Given the description of an element on the screen output the (x, y) to click on. 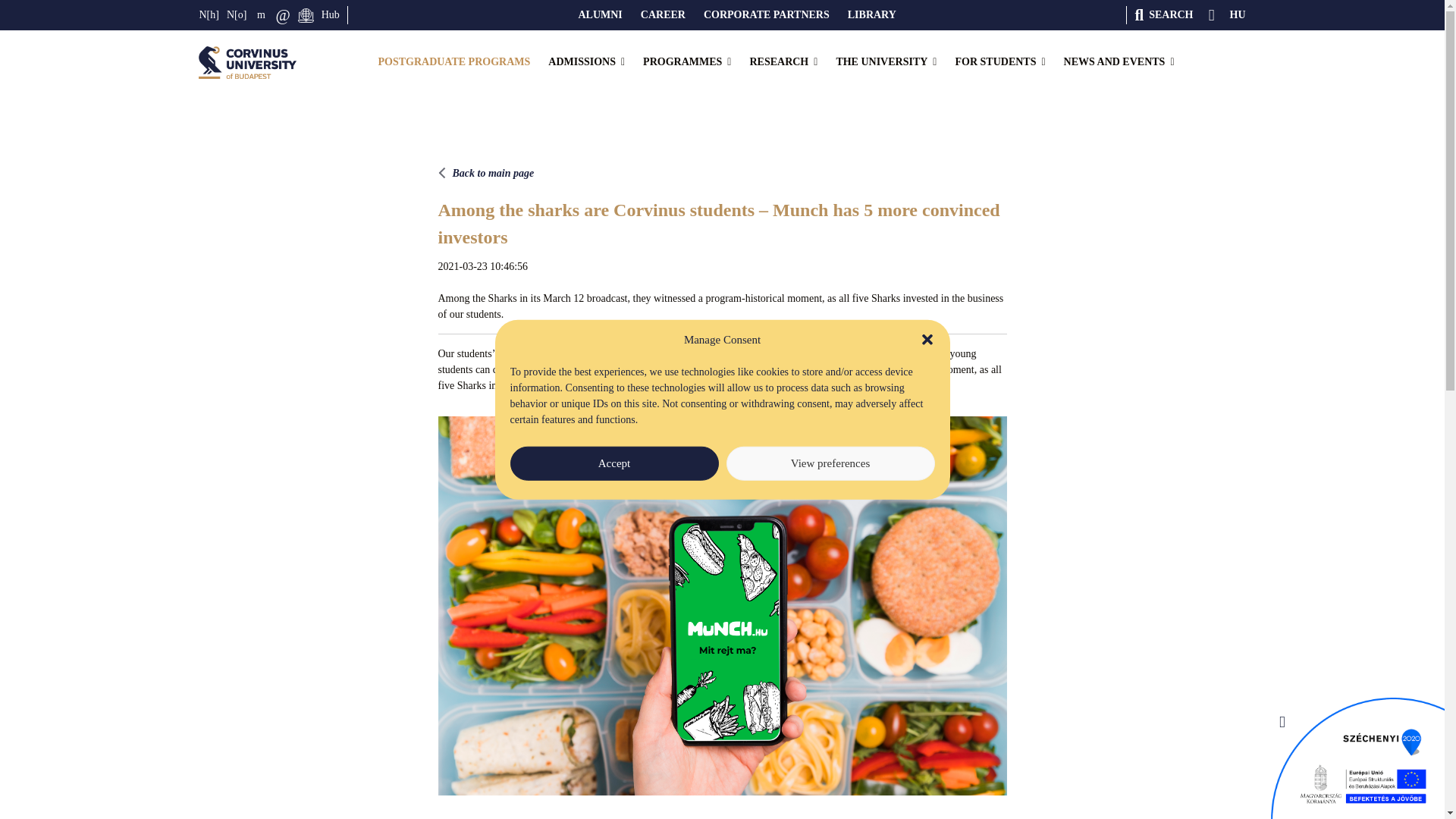
LIBRARY (871, 14)
MyCorvinus Hub (330, 14)
ALUMNI (599, 14)
Search (1163, 14)
SEARCH (1163, 14)
POSTGRADUATE PROGRAMS (454, 62)
Teacher NEPTUN (236, 14)
View preferences (830, 462)
Accept (613, 462)
CAREER (662, 14)
ADMISSIONS (586, 62)
Student NEPTUN (208, 14)
Hub (330, 14)
CORPORATE PARTNERS (766, 14)
